Given the description of an element on the screen output the (x, y) to click on. 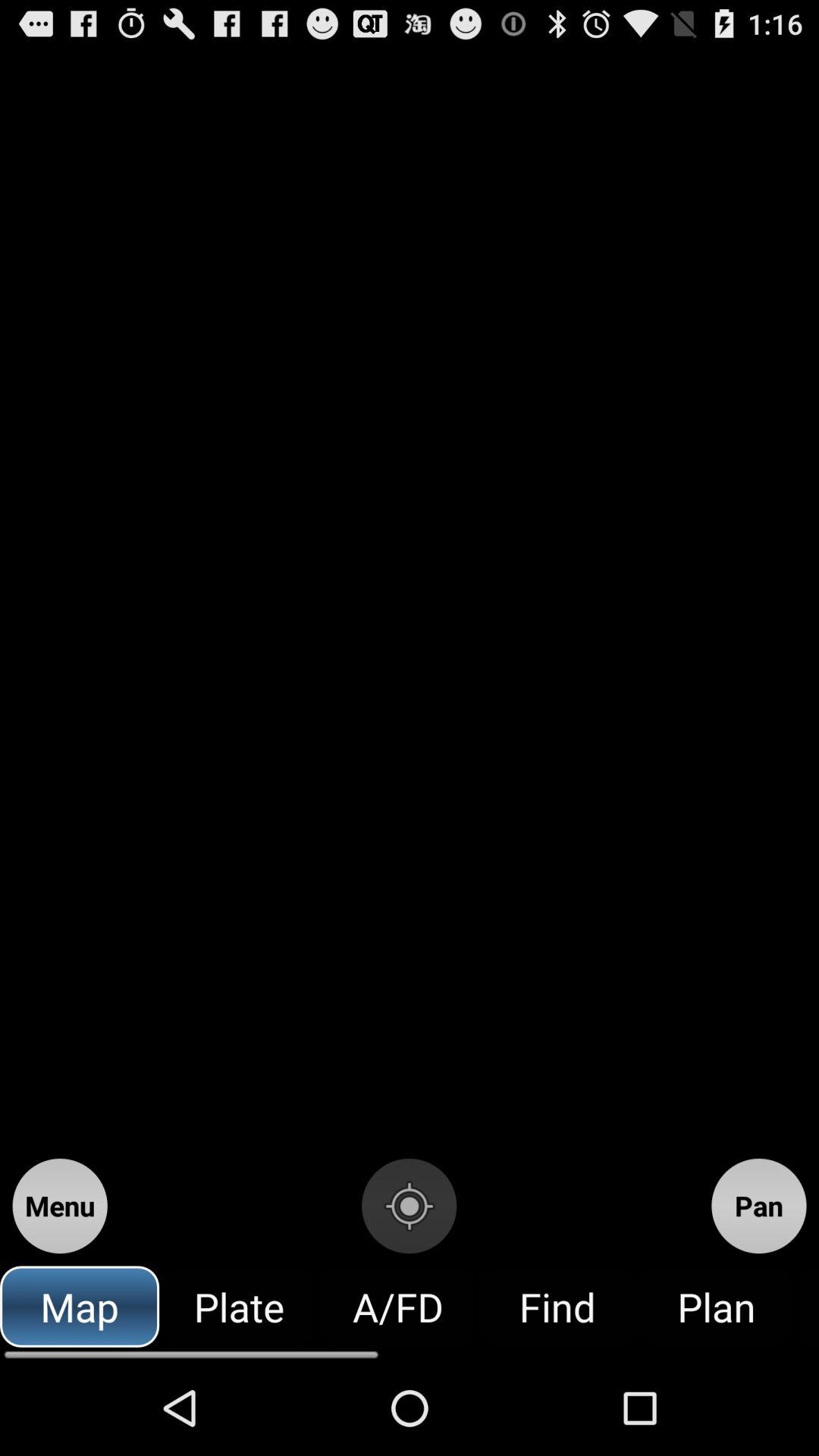
scroll to the pan (758, 1205)
